Given the description of an element on the screen output the (x, y) to click on. 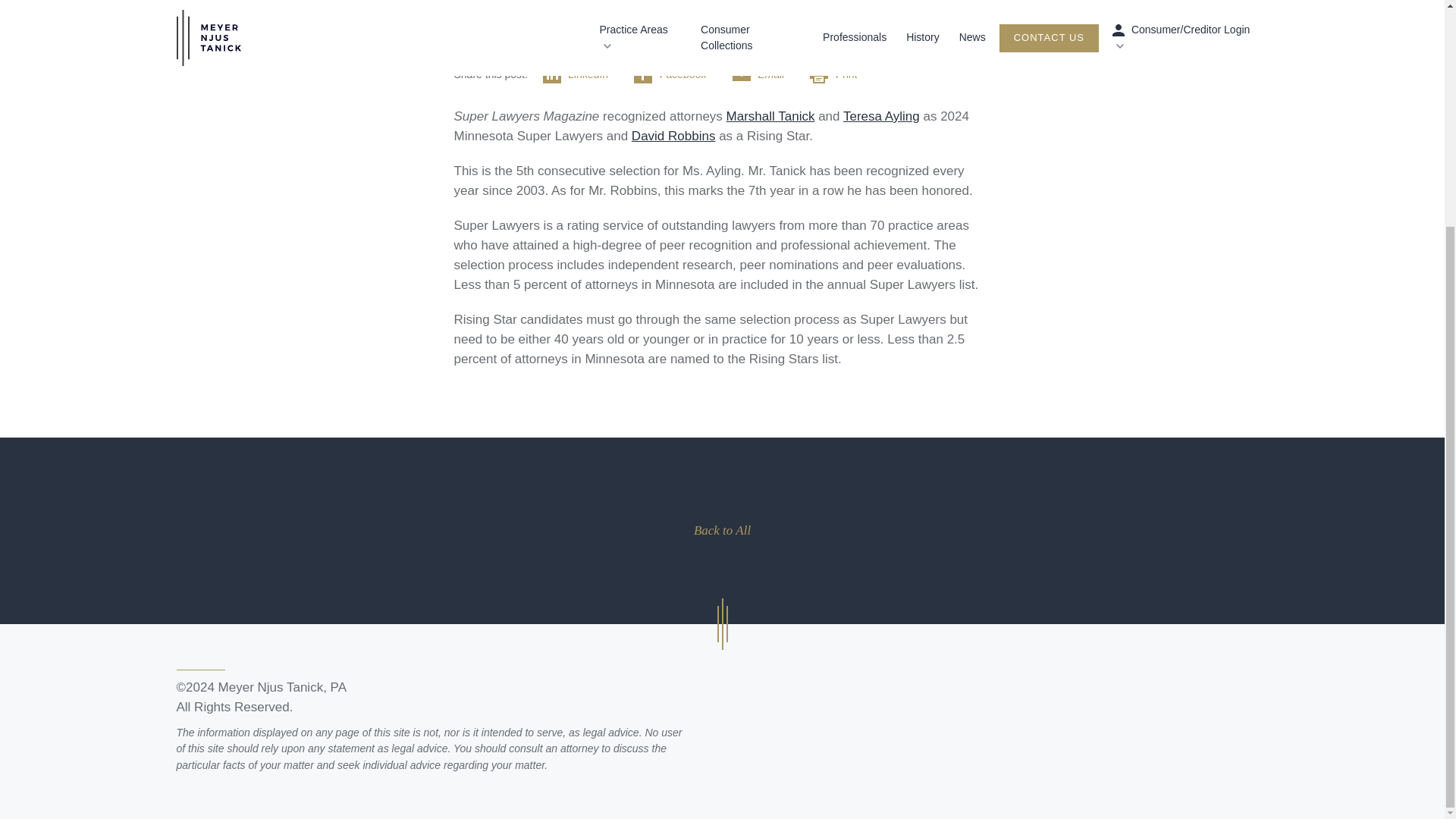
Back to All (722, 530)
Print (840, 74)
David Robbins (673, 135)
Marshall Tanick (770, 115)
Print this article (840, 74)
Email (765, 74)
Share this article via email (765, 74)
Share this article via LinkedIn (583, 74)
Teresa Ayling (881, 115)
LinkedIn (583, 74)
Facebook (676, 74)
